Given the description of an element on the screen output the (x, y) to click on. 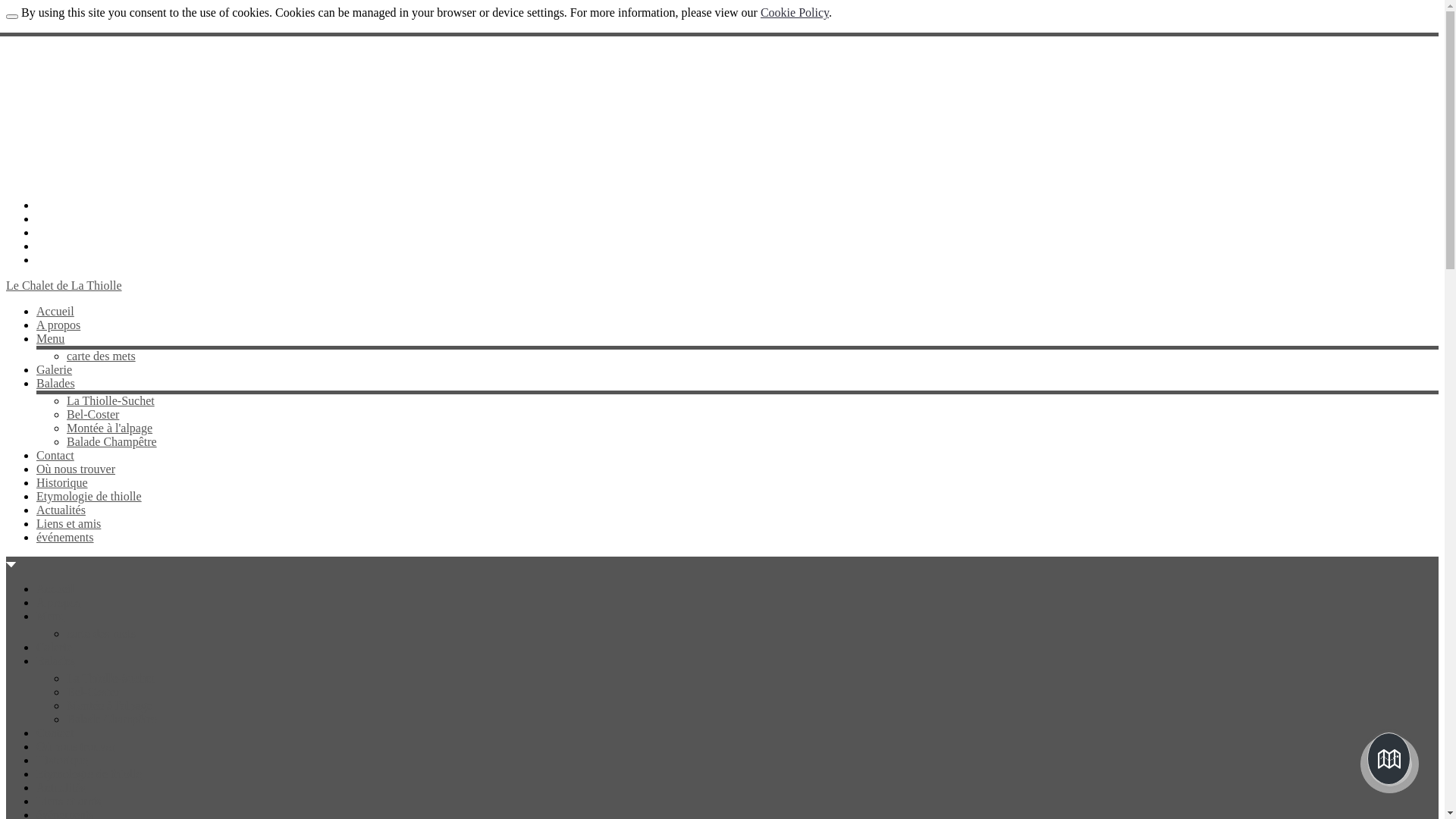
carte des mets Element type: text (100, 355)
carte des mets Element type: text (100, 633)
Balades Element type: text (55, 660)
Le Chalet de La Thiolle Element type: text (64, 285)
Liens et amis Element type: text (68, 800)
Galerie Element type: text (54, 646)
Accueil Element type: text (55, 310)
A propos Element type: text (58, 602)
Cookie Policy Element type: text (794, 12)
Balades Element type: text (55, 382)
Accueil Element type: text (55, 588)
Etymologie de thiolle Element type: text (88, 495)
Historique Element type: text (61, 759)
A propos Element type: text (58, 324)
La Thiolle-Suchet Element type: text (110, 677)
Menu Element type: text (50, 615)
Contact Element type: text (55, 732)
Contact Element type: text (55, 454)
Galerie Element type: text (54, 369)
La Thiolle-Suchet Element type: text (110, 400)
Bel-Coster Element type: text (92, 691)
Bel-Coster Element type: text (92, 413)
Liens et amis Element type: text (68, 523)
Historique Element type: text (61, 482)
Menu Element type: text (50, 338)
Etymologie de thiolle Element type: text (88, 773)
